Given the description of an element on the screen output the (x, y) to click on. 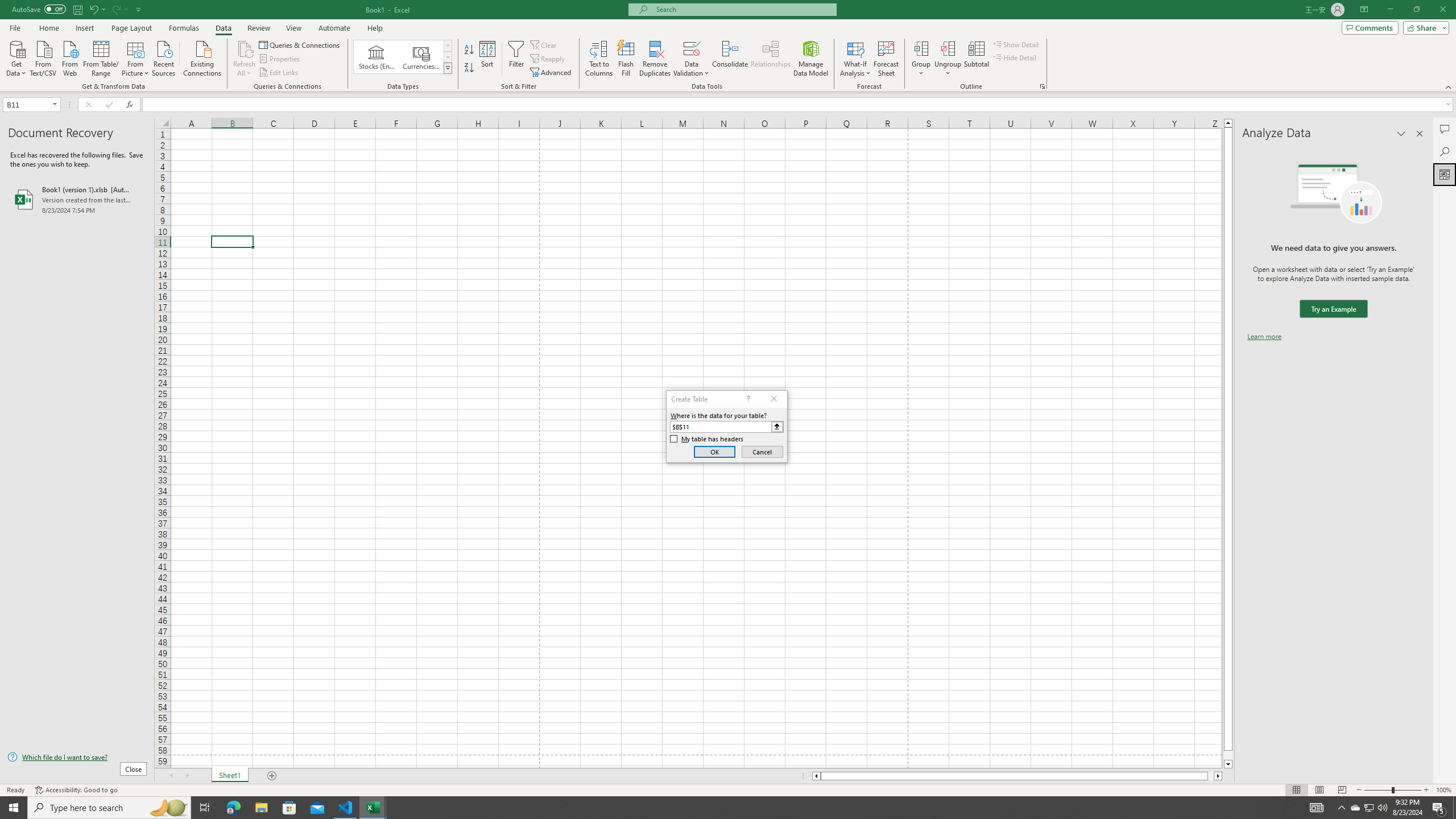
We need data to give you answers. Try an Example (1333, 308)
Hide Detail (1014, 56)
Show Detail (1016, 44)
Text to Columns... (598, 58)
What-If Analysis (855, 58)
